Given the description of an element on the screen output the (x, y) to click on. 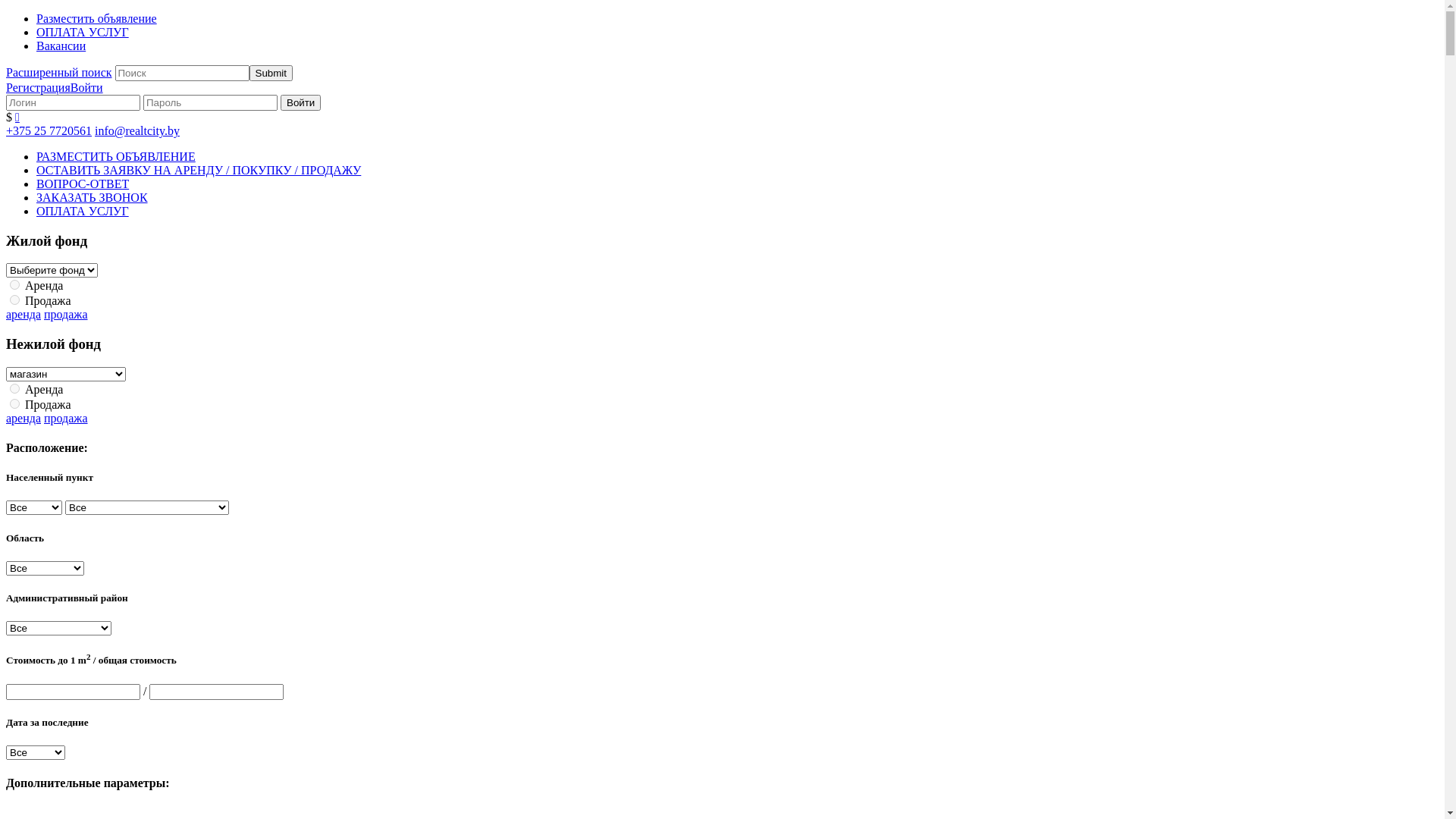
+375 25 7720561 Element type: text (48, 130)
info@realtcity.by Element type: text (136, 130)
